Given the description of an element on the screen output the (x, y) to click on. 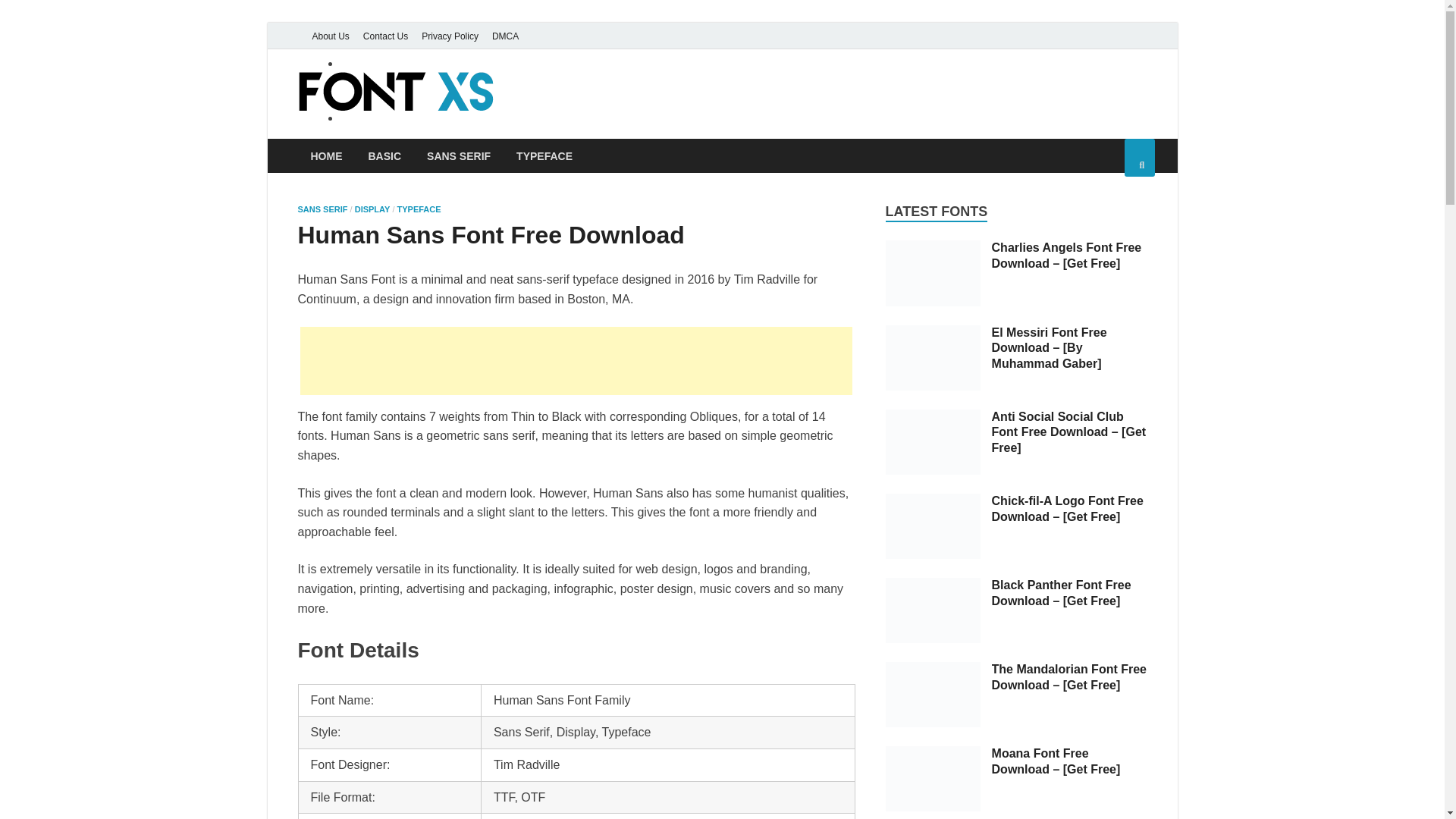
About Us (329, 35)
TYPEFACE (544, 155)
HOME (326, 155)
DMCA (504, 35)
SANS SERIF (458, 155)
Contact Us (385, 35)
Privacy Policy (449, 35)
BASIC (384, 155)
SANS SERIF (322, 208)
Font XS (558, 100)
